Given the description of an element on the screen output the (x, y) to click on. 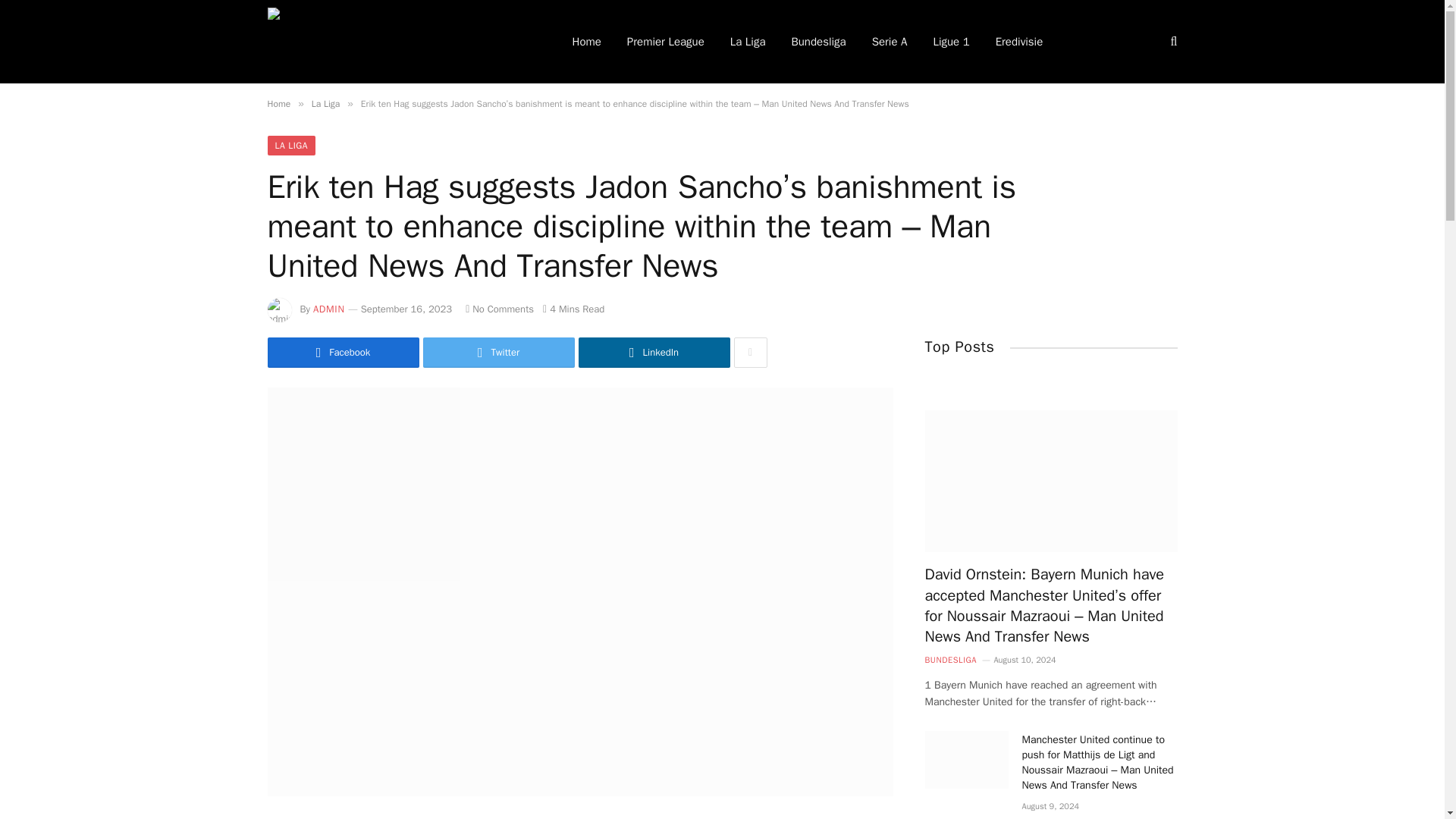
Share on Twitter (499, 352)
Twitter (499, 352)
Premier League (665, 41)
La Liga (325, 103)
Facebook (342, 352)
ADMIN (329, 308)
Posts by admin (329, 308)
No Comments (499, 308)
Home (277, 103)
Jalanforum News (399, 41)
